Given the description of an element on the screen output the (x, y) to click on. 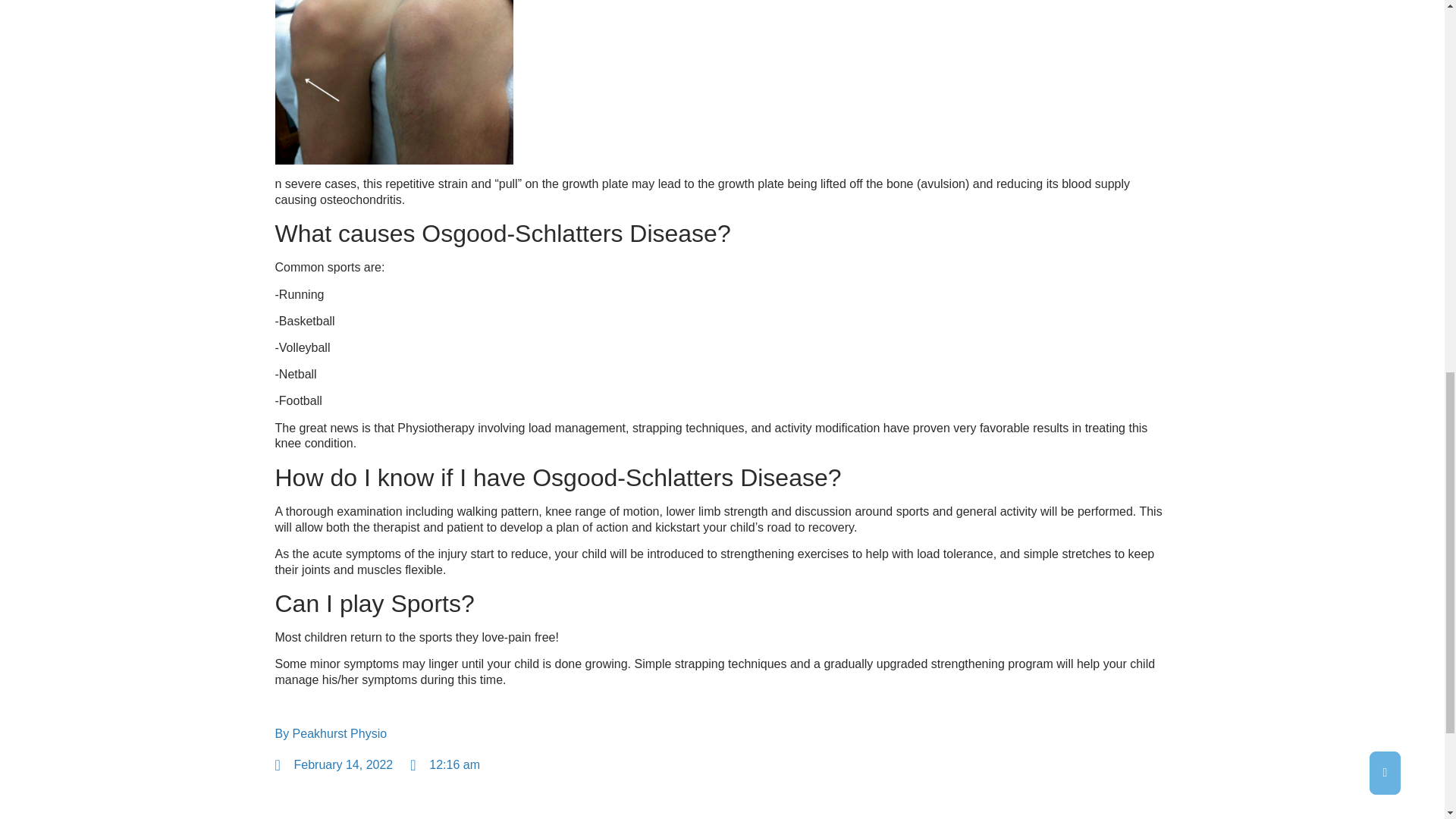
February 14, 2022 (334, 765)
